Given the description of an element on the screen output the (x, y) to click on. 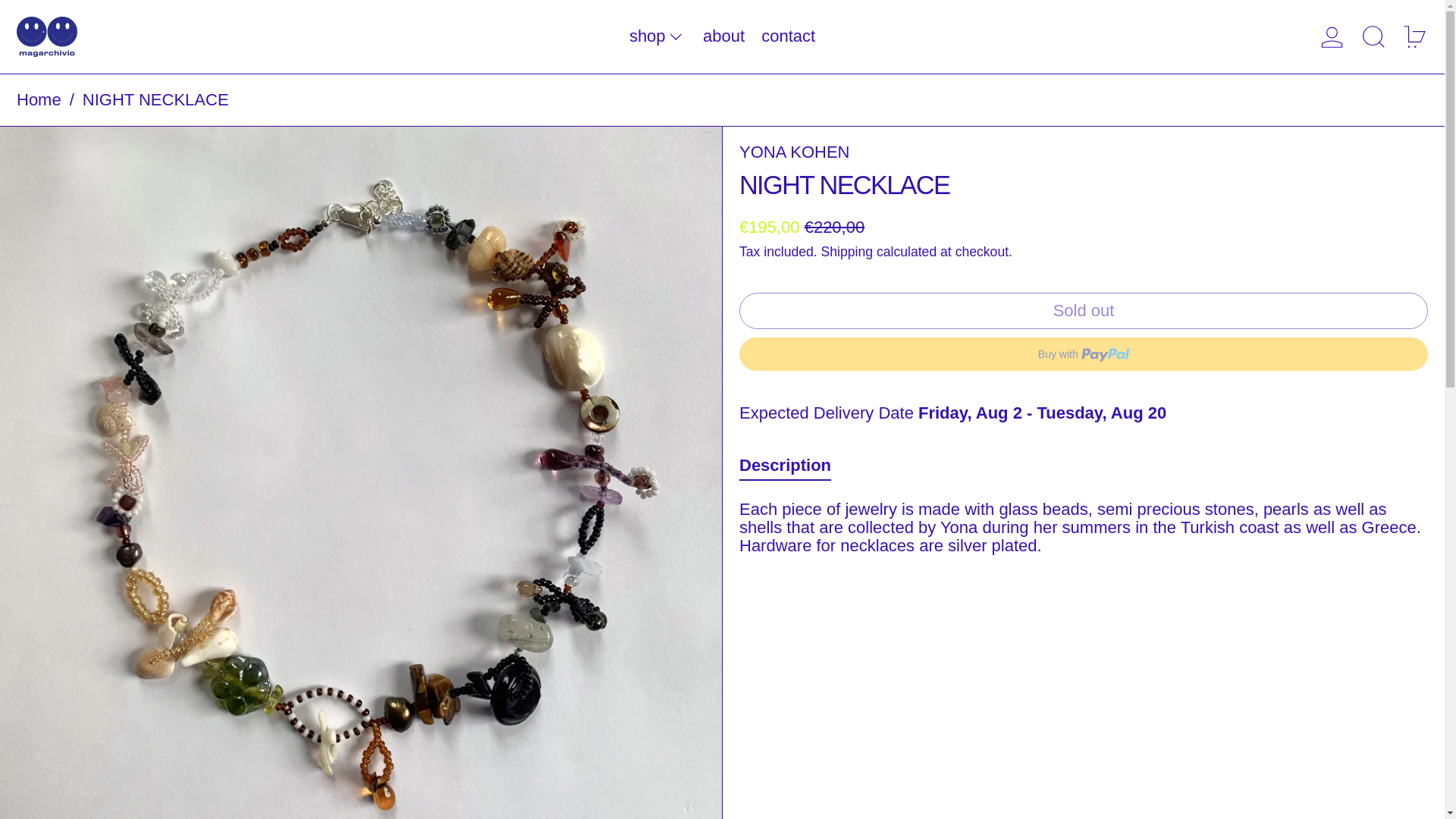
YONA KOHEN (793, 151)
Shipping (846, 251)
Home (38, 99)
Sold out (1083, 310)
NIGHT NECKLACE (155, 99)
Home (38, 99)
